Given the description of an element on the screen output the (x, y) to click on. 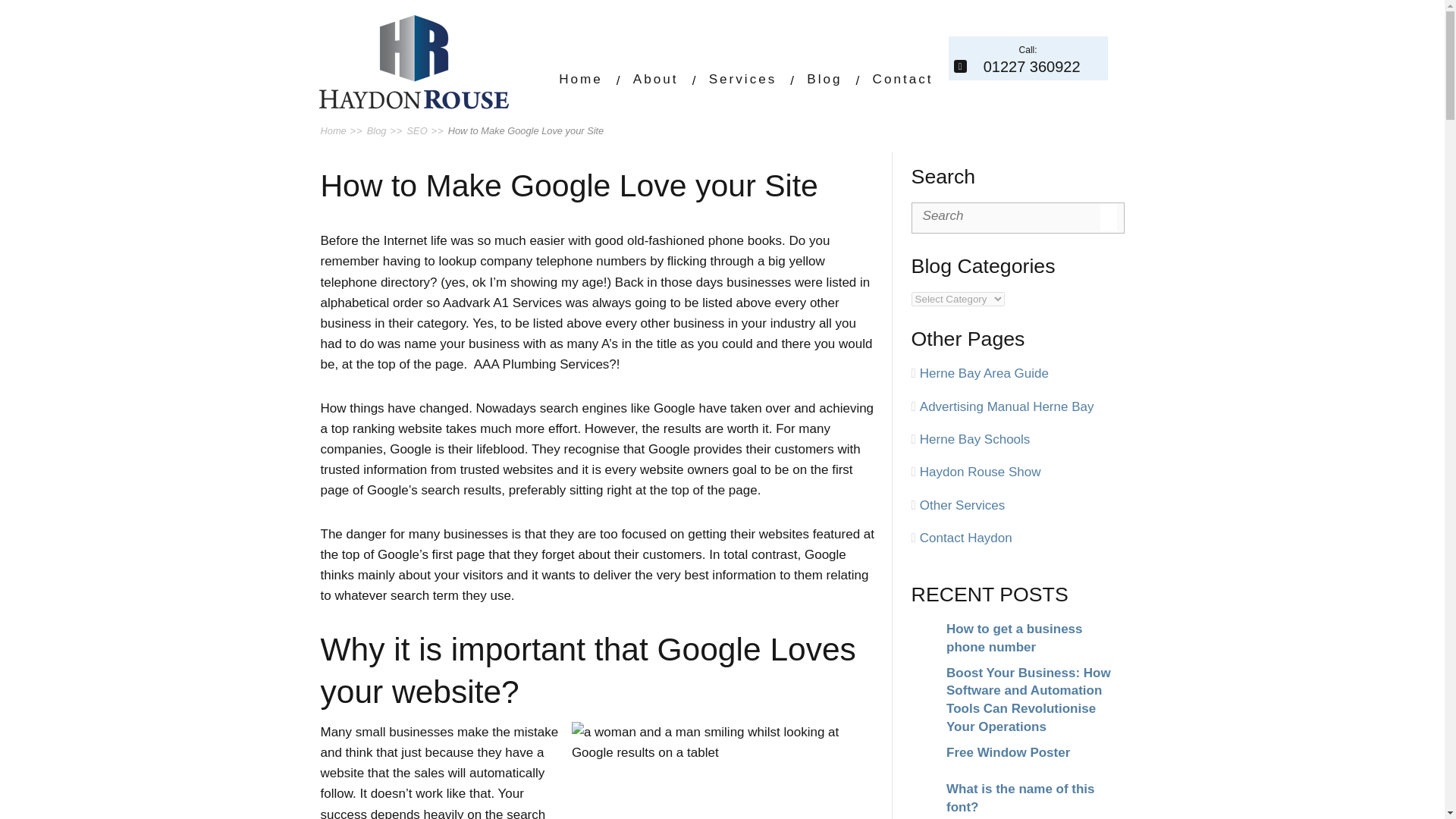
Google love (723, 770)
Services (742, 78)
About (1028, 58)
Blog (655, 78)
Home (824, 78)
Contact (580, 78)
